Given the description of an element on the screen output the (x, y) to click on. 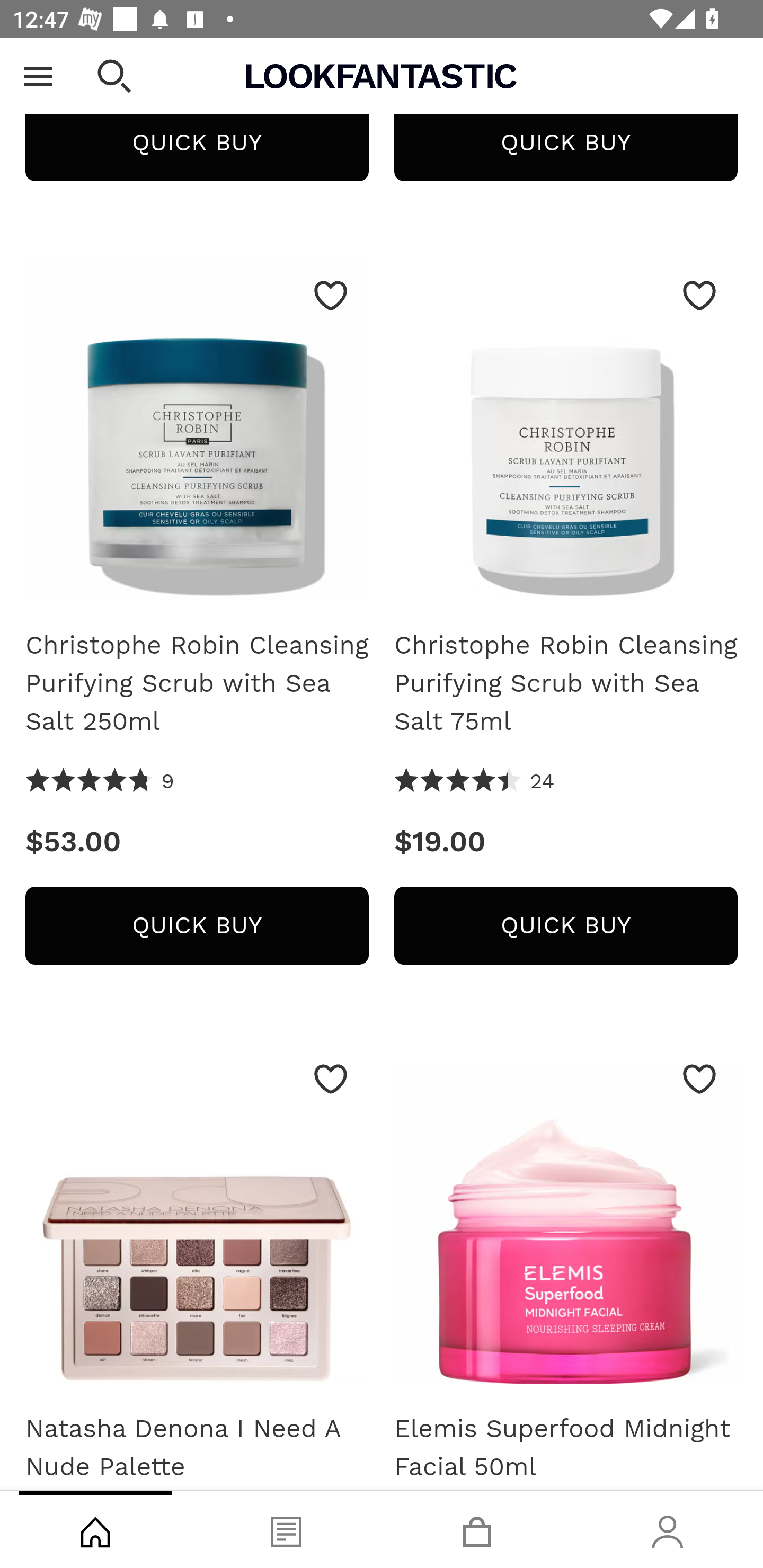
Save to Wishlist (330, 296)
Save to Wishlist (698, 296)
4.78 Stars 9 Reviews (99, 782)
4.46 Stars 24 Reviews (475, 782)
Price: $53.00 (196, 842)
Price: $19.00 (565, 842)
Natasha Denona I Need A Nude Palette (196, 1219)
Elemis Superfood Midnight Facial 50ml (565, 1219)
Save to Wishlist (330, 1079)
Save to Wishlist (698, 1079)
Natasha Denona I Need A Nude Palette (196, 1444)
Elemis Superfood Midnight Facial 50ml (565, 1444)
Shop, tab, 1 of 4 (95, 1529)
Blog, tab, 2 of 4 (285, 1529)
Basket, tab, 3 of 4 (476, 1529)
Account, tab, 4 of 4 (667, 1529)
